Given the description of an element on the screen output the (x, y) to click on. 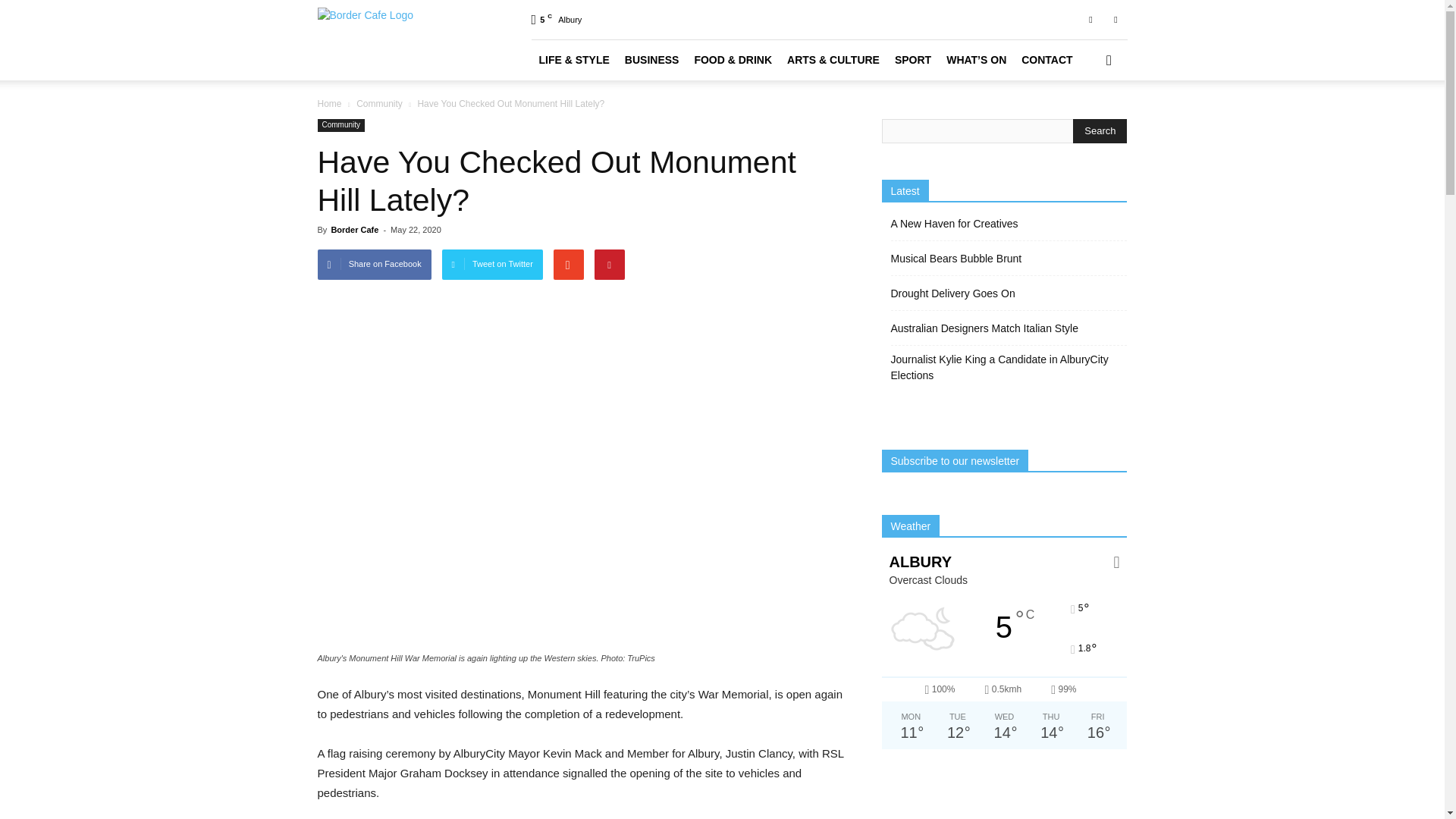
Facebook (1090, 19)
SPORT (912, 60)
Search (1099, 130)
BUSINESS (652, 60)
View all posts in Community (379, 103)
CONTACT (1046, 60)
Instagram (1114, 19)
